Given the description of an element on the screen output the (x, y) to click on. 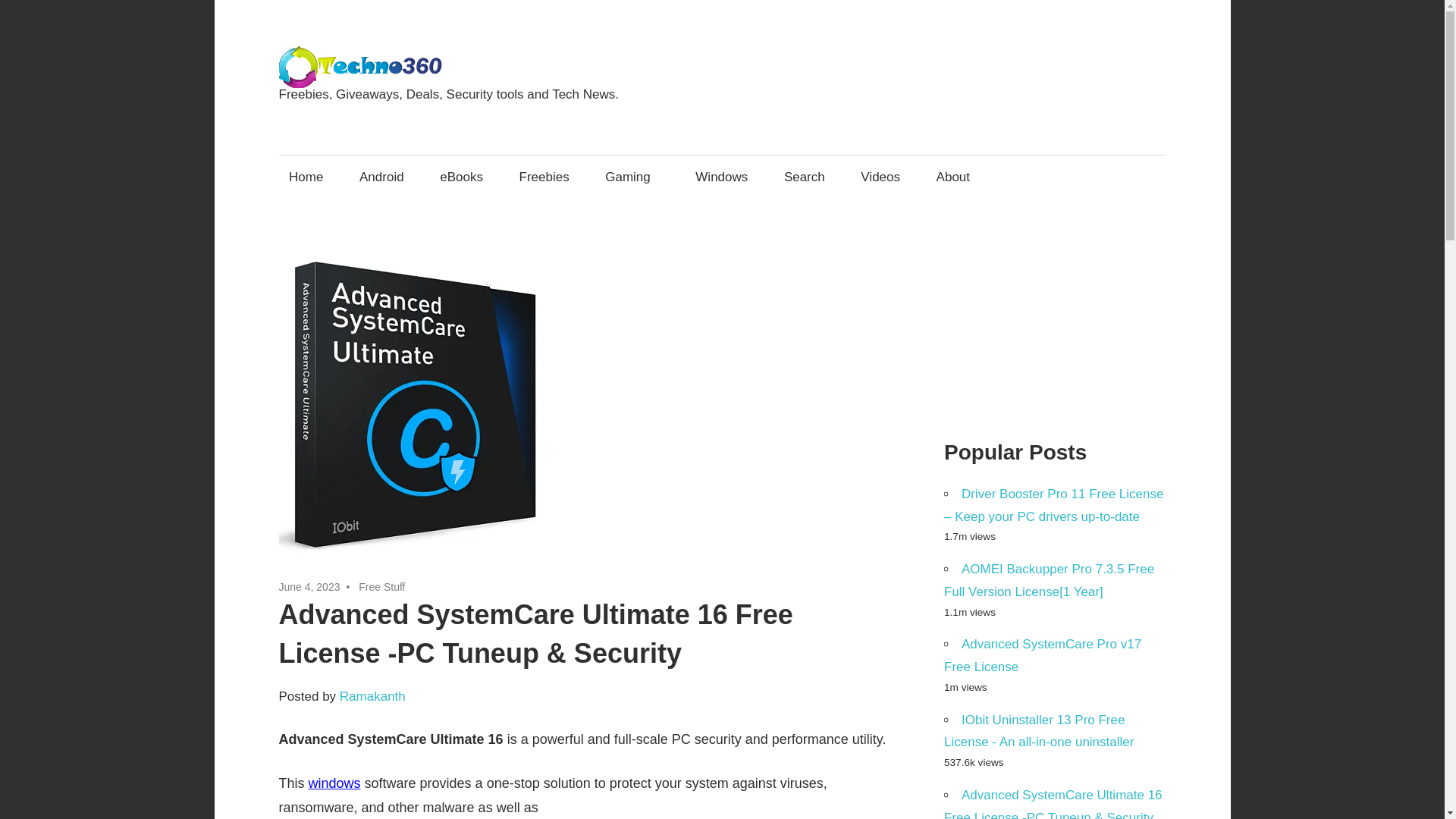
View all posts by Ramakanth (372, 696)
Search (803, 176)
Videos (880, 176)
12:50 pm (309, 586)
Ramakanth (372, 696)
June 4, 2023 (309, 586)
windows (334, 783)
Android (381, 176)
Freebies (543, 176)
Windows (721, 176)
eBooks (461, 176)
Advanced SystemCare Pro v17 Free License (1042, 655)
About (958, 176)
Home (306, 176)
